Given the description of an element on the screen output the (x, y) to click on. 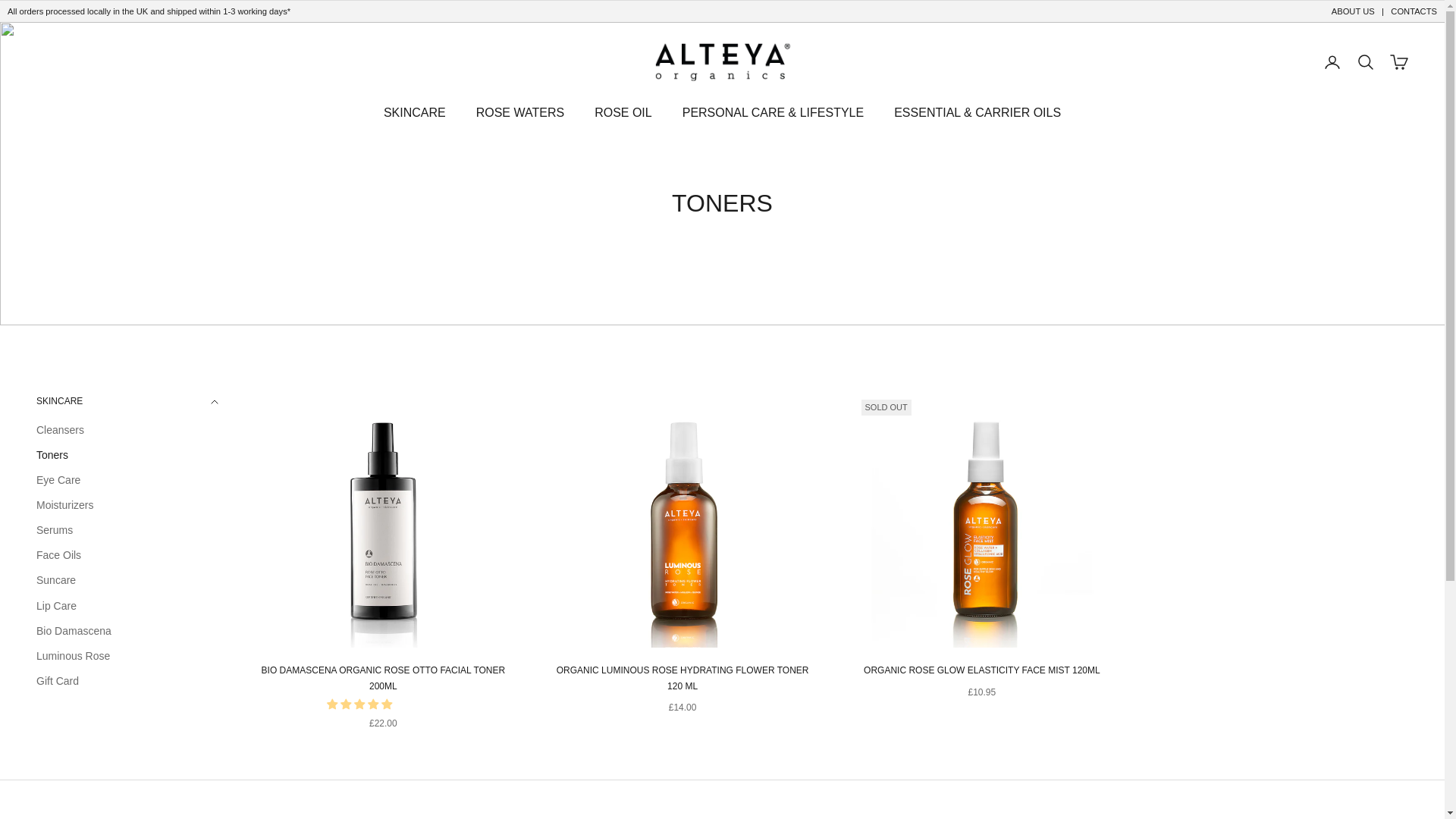
Alteya Organics (721, 61)
ABOUT US (1353, 10)
CONTACTS (1413, 10)
